Given the description of an element on the screen output the (x, y) to click on. 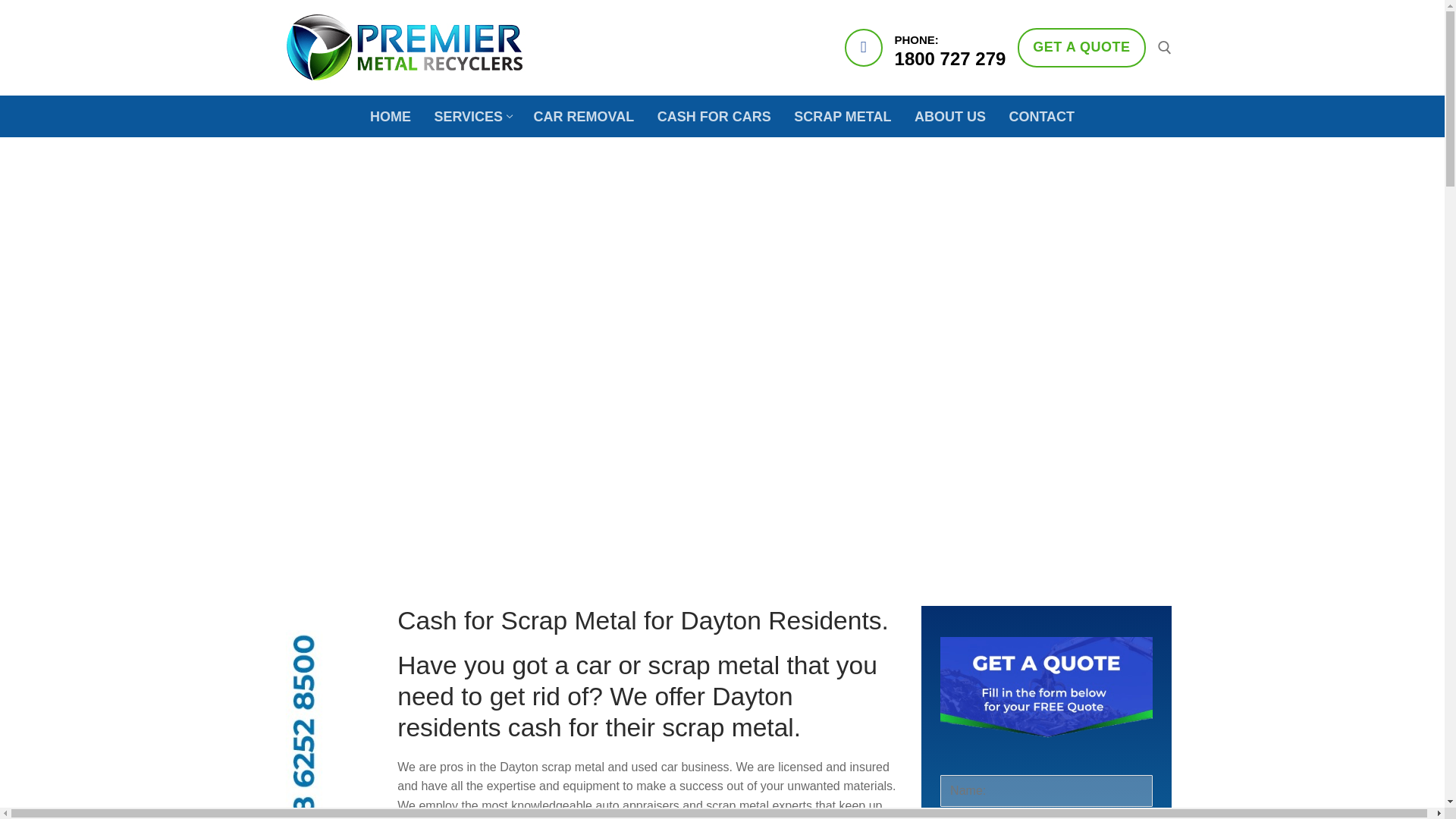
CASH FOR CARS (713, 115)
CONTACT (1041, 115)
ABOUT US (949, 115)
GET A QUOTE (1080, 47)
HOME (471, 115)
CAR REMOVAL (389, 115)
SCRAP METAL (584, 115)
